Given the description of an element on the screen output the (x, y) to click on. 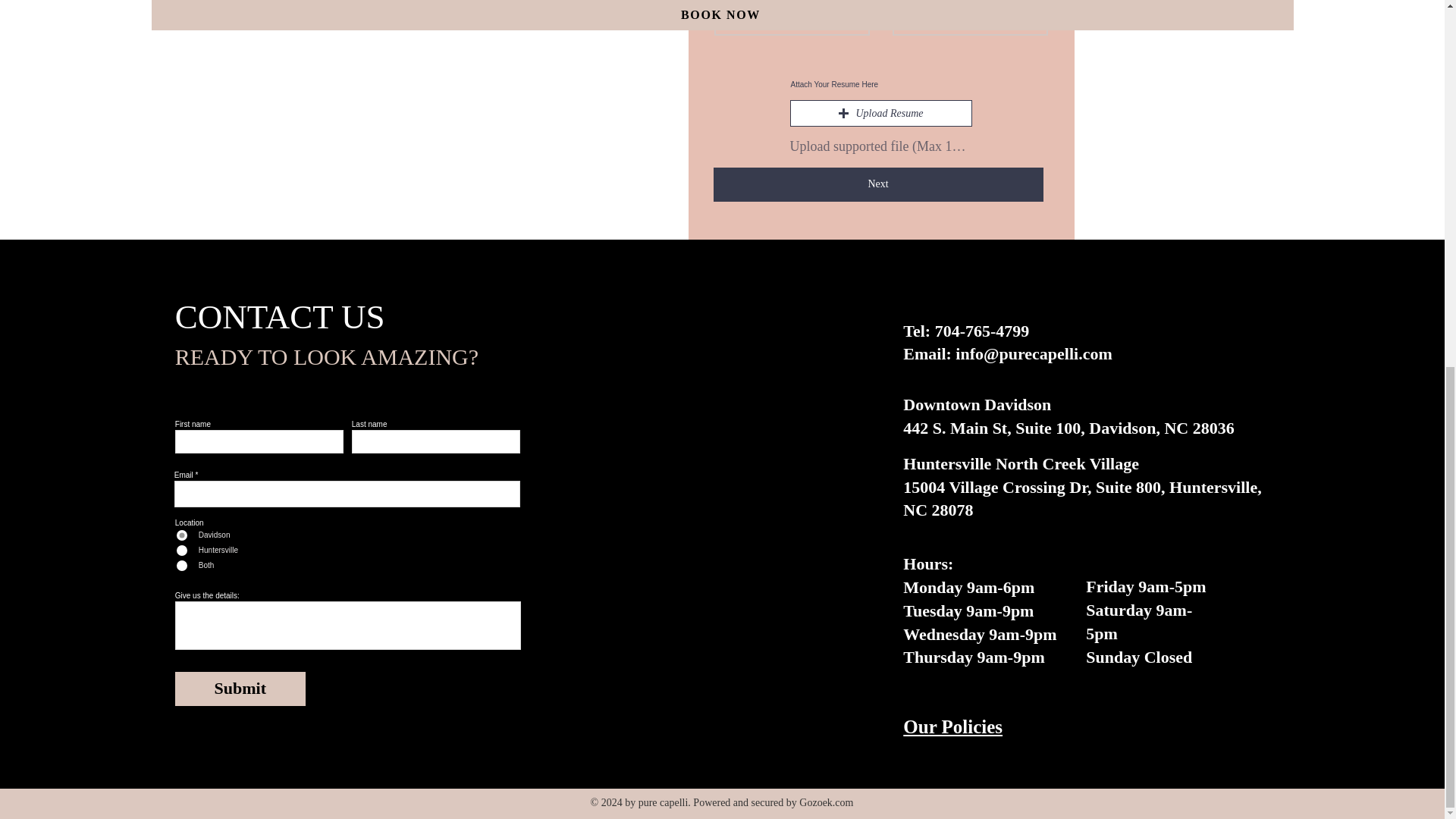
Next (877, 184)
Our Policies (952, 726)
Tel: 704-765-4799 (965, 330)
Submit (239, 688)
